Given the description of an element on the screen output the (x, y) to click on. 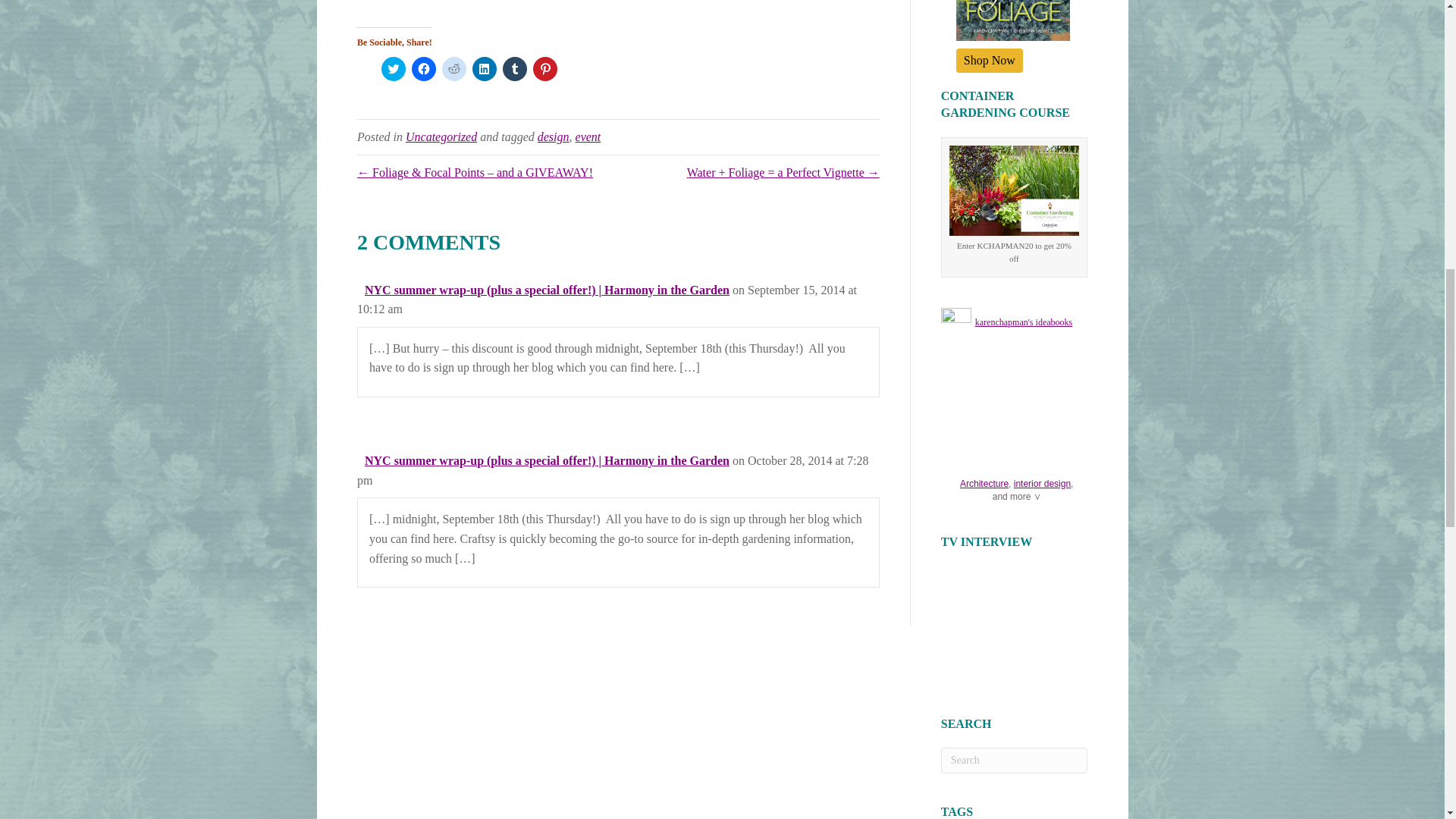
Click to share on LinkedIn (483, 68)
Click to share on Reddit (453, 68)
event (588, 136)
Click to share on Facebook (423, 68)
Click to share on Pinterest (544, 68)
Click to share on Twitter (393, 68)
Click Here (989, 60)
Click to share on Tumblr (514, 68)
design (553, 136)
Uncategorized (441, 136)
